Given the description of an element on the screen output the (x, y) to click on. 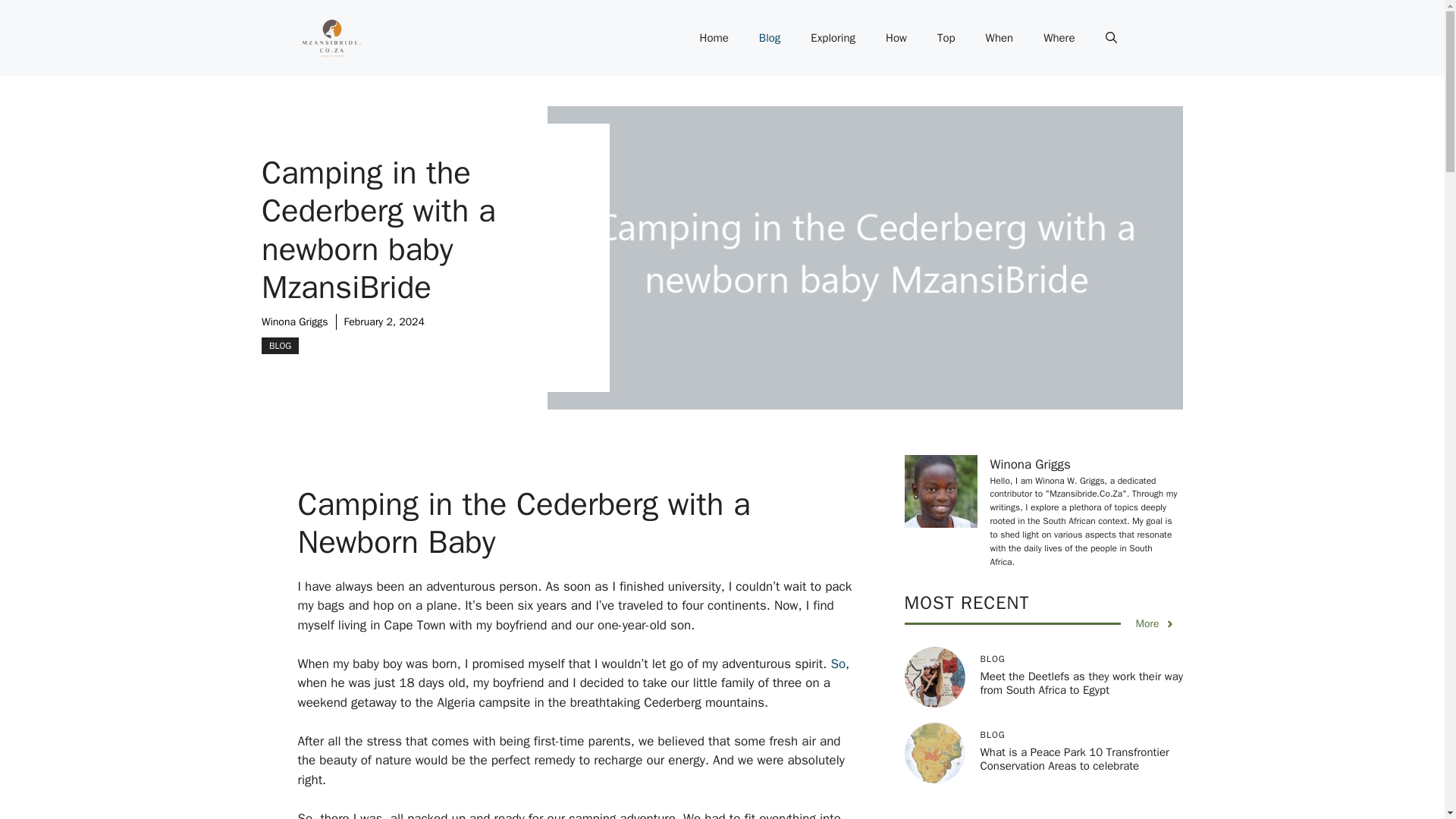
Home (713, 37)
Top (946, 37)
More (1154, 623)
Winona Griggs (295, 321)
How (895, 37)
Where (1058, 37)
BLOG (280, 345)
When (1000, 37)
Blog (769, 37)
Exploring (832, 37)
So (837, 663)
Advertisement (1051, 812)
